Given the description of an element on the screen output the (x, y) to click on. 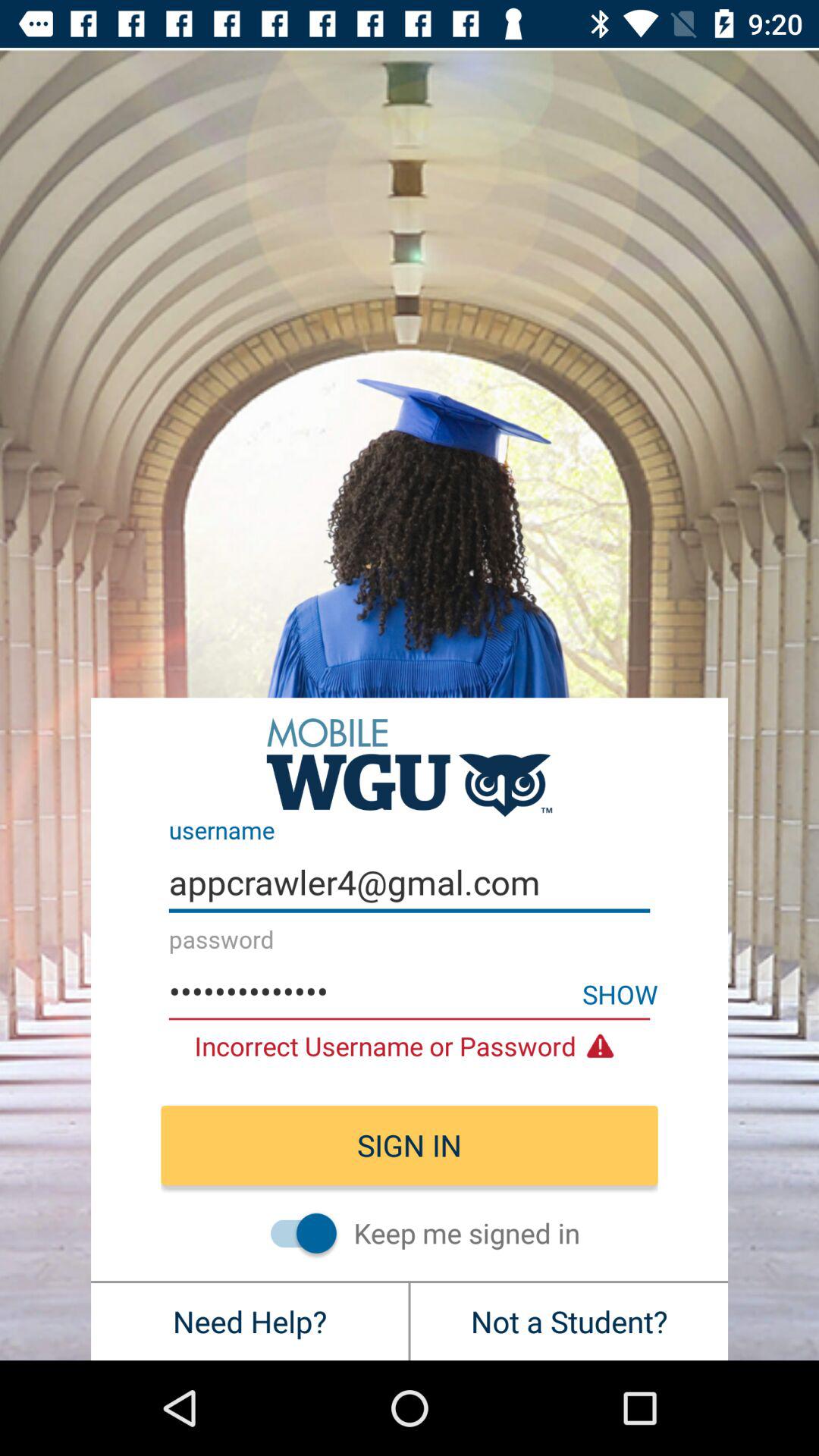
tap icon below keep me signed icon (569, 1321)
